Given the description of an element on the screen output the (x, y) to click on. 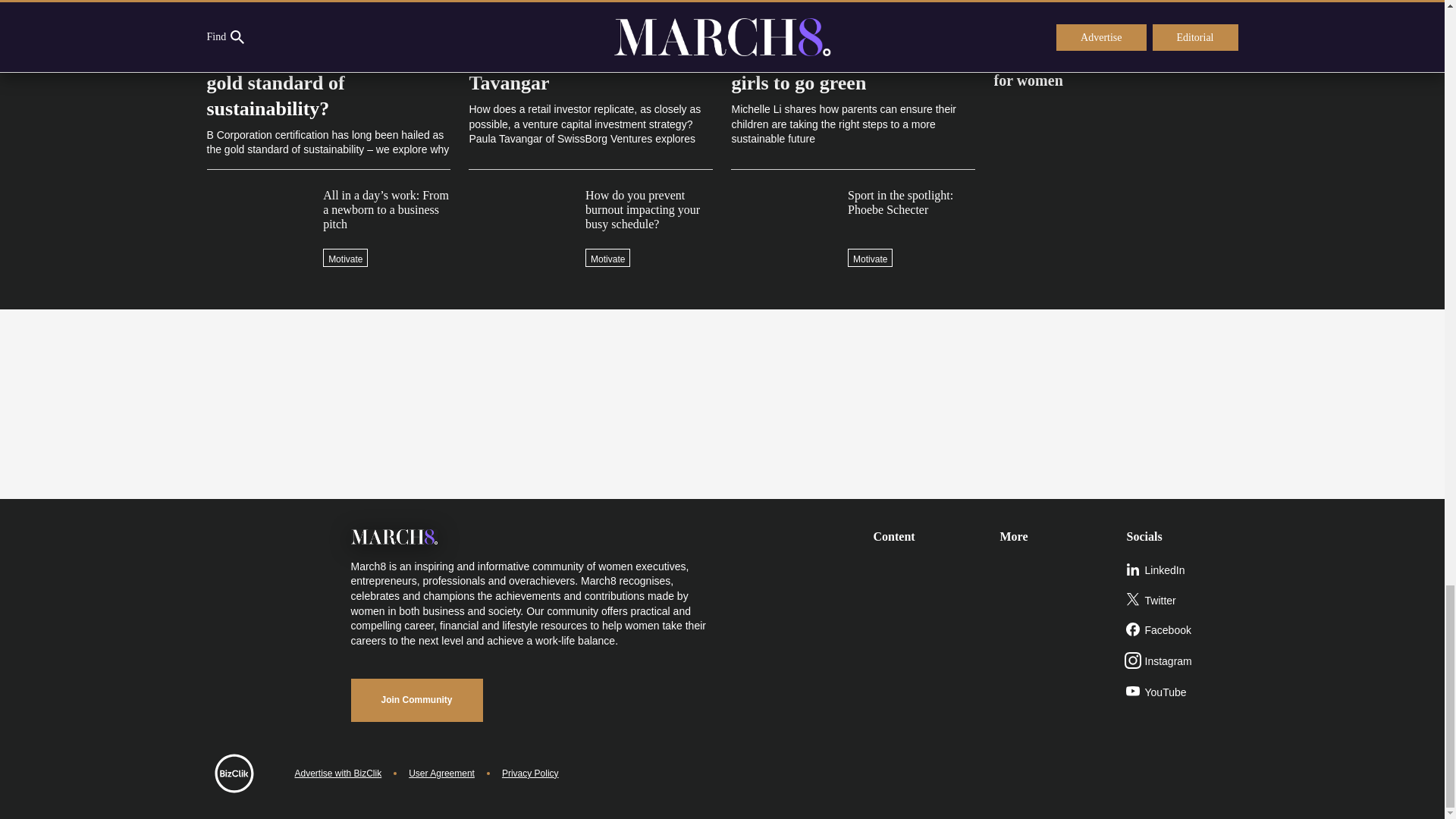
Is mock DEI a window dressing for major corporations? (1114, 19)
Top 10 powerful ways to be an ally for women (1114, 64)
Join Community (415, 699)
